Given the description of an element on the screen output the (x, y) to click on. 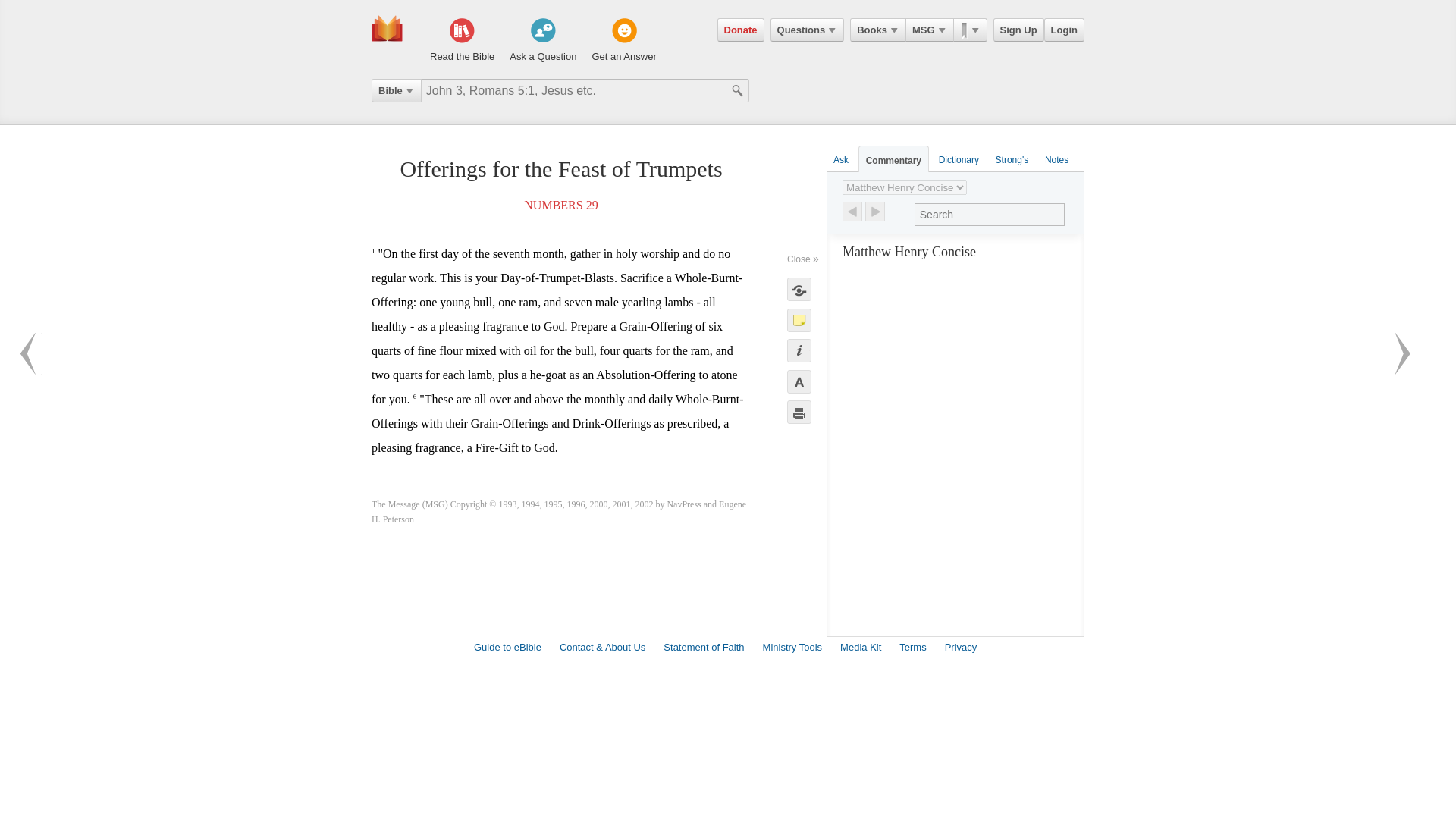
Ask a Question (542, 41)
Books (877, 29)
Donate (740, 29)
Get an Answer (623, 41)
Read the Bible (462, 41)
Questions (807, 29)
